Given the description of an element on the screen output the (x, y) to click on. 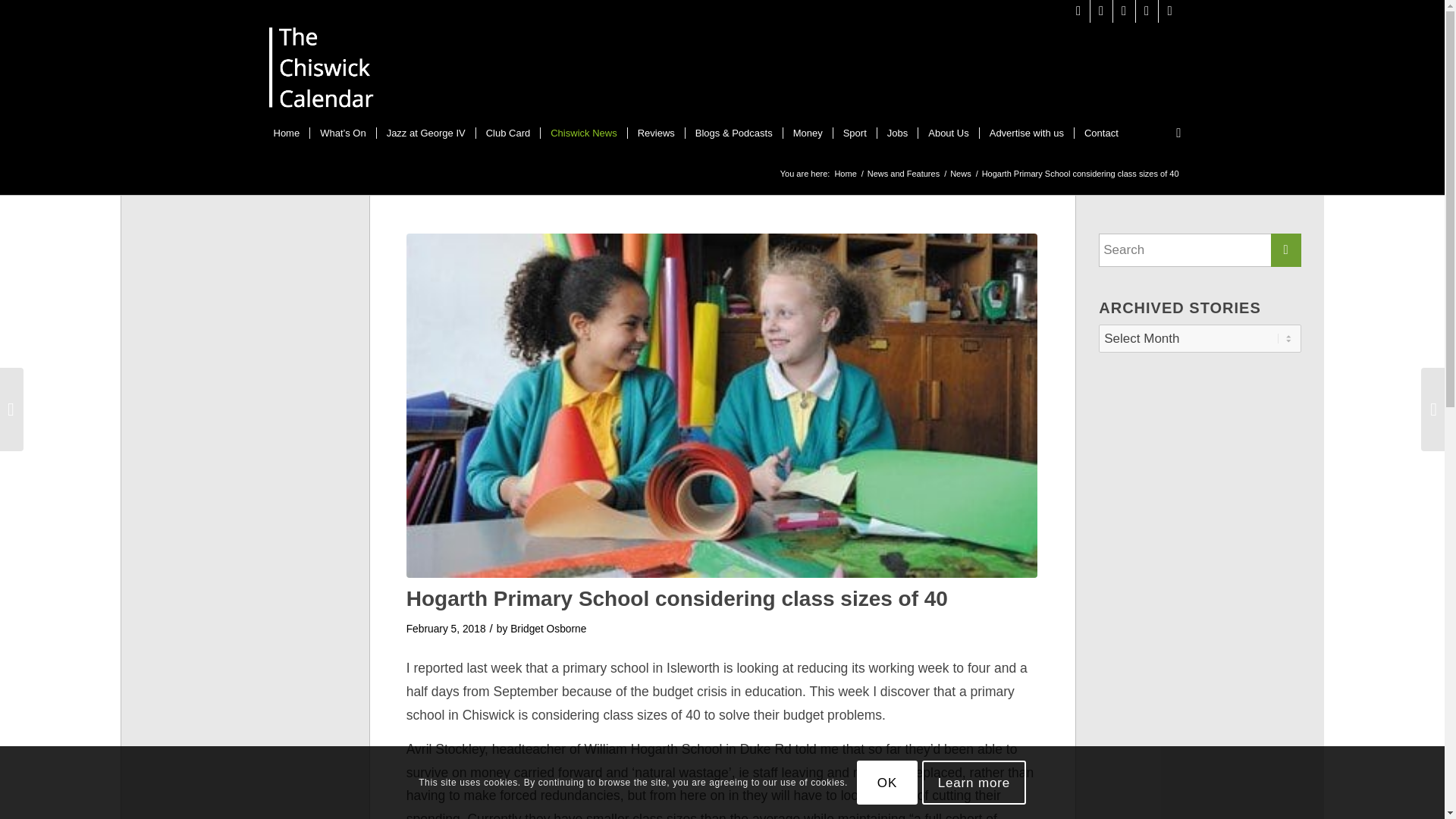
Facebook (1124, 11)
Instagram (1101, 11)
X (1078, 11)
TCC-white-on-white (321, 70)
Youtube (1146, 11)
Mail (1169, 11)
Home (286, 133)
